Given the description of an element on the screen output the (x, y) to click on. 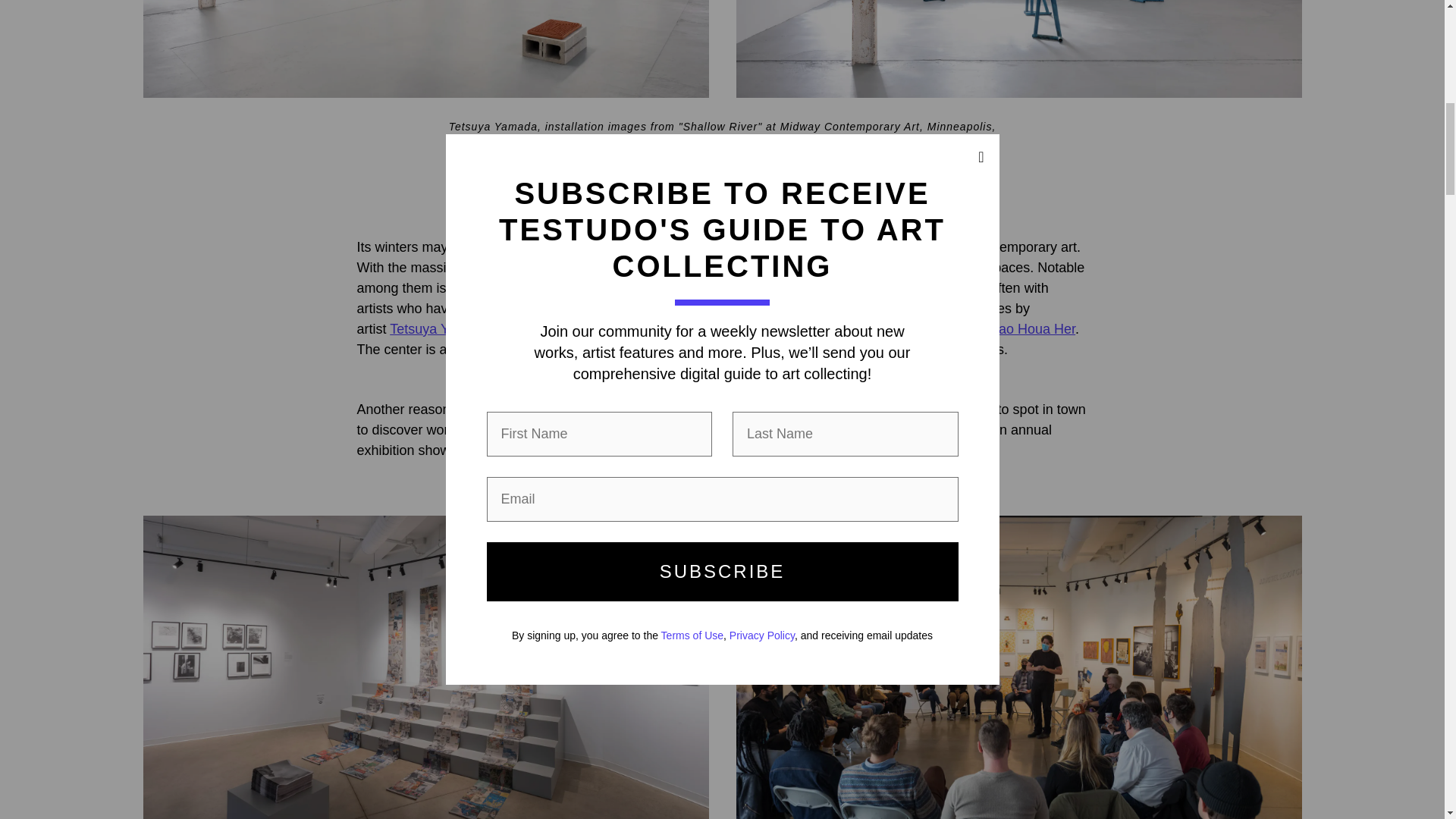
Karthik Pandian (741, 328)
Midway Contemporary (517, 287)
Walker Art Center (613, 267)
Tetsuya Yamada (439, 328)
Minneapolis College of Art and Design (789, 409)
Pao Houa Her (1032, 328)
